Given the description of an element on the screen output the (x, y) to click on. 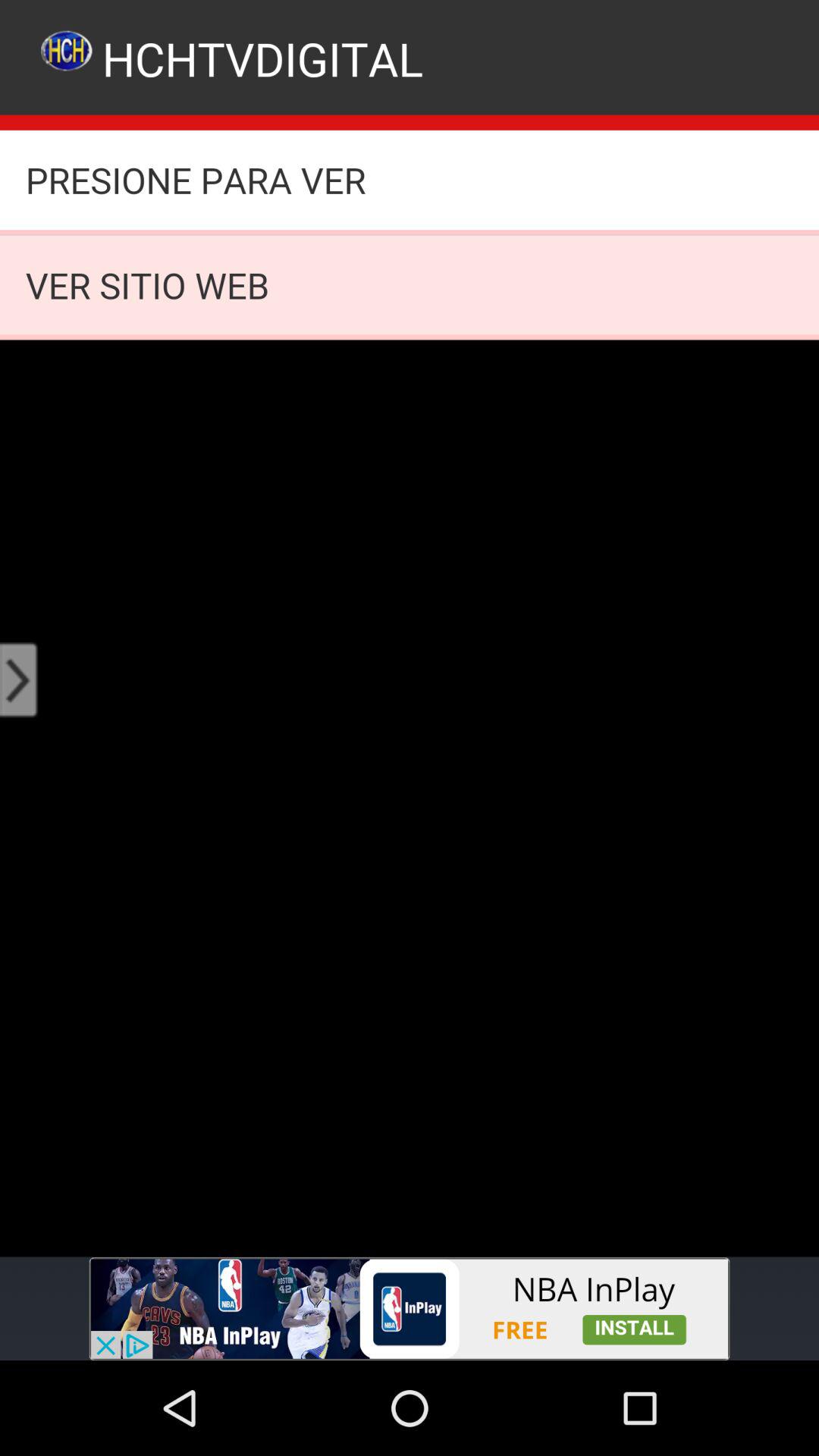
go to add (409, 1308)
